Given the description of an element on the screen output the (x, y) to click on. 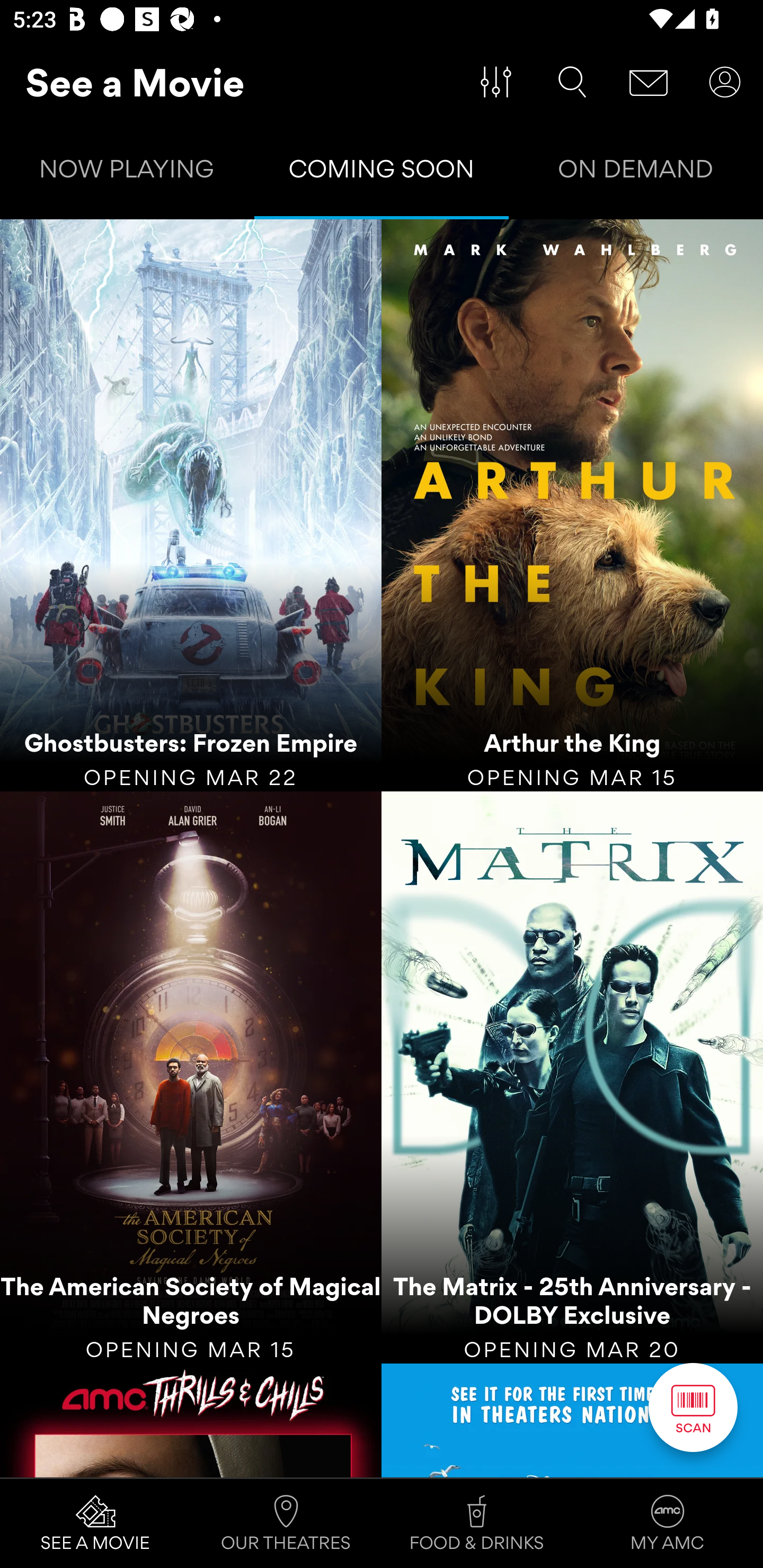
Filter Movies (495, 82)
Search (572, 82)
Message Center (648, 82)
User Account (724, 82)
NOW PLAYING
Tab 1 of 3 (127, 173)
COMING SOON
Tab 2 of 3 (381, 173)
ON DEMAND
Tab 3 of 3 (635, 173)
Ghostbusters: Frozen Empire
OPENING MAR 22 (190, 505)
Arthur the King
OPENING MAR 15 (572, 505)
Scan Button (692, 1406)
SEE A MOVIE
Tab 1 of 4 (95, 1523)
OUR THEATRES
Tab 2 of 4 (285, 1523)
FOOD & DRINKS
Tab 3 of 4 (476, 1523)
MY AMC
Tab 4 of 4 (667, 1523)
